Given the description of an element on the screen output the (x, y) to click on. 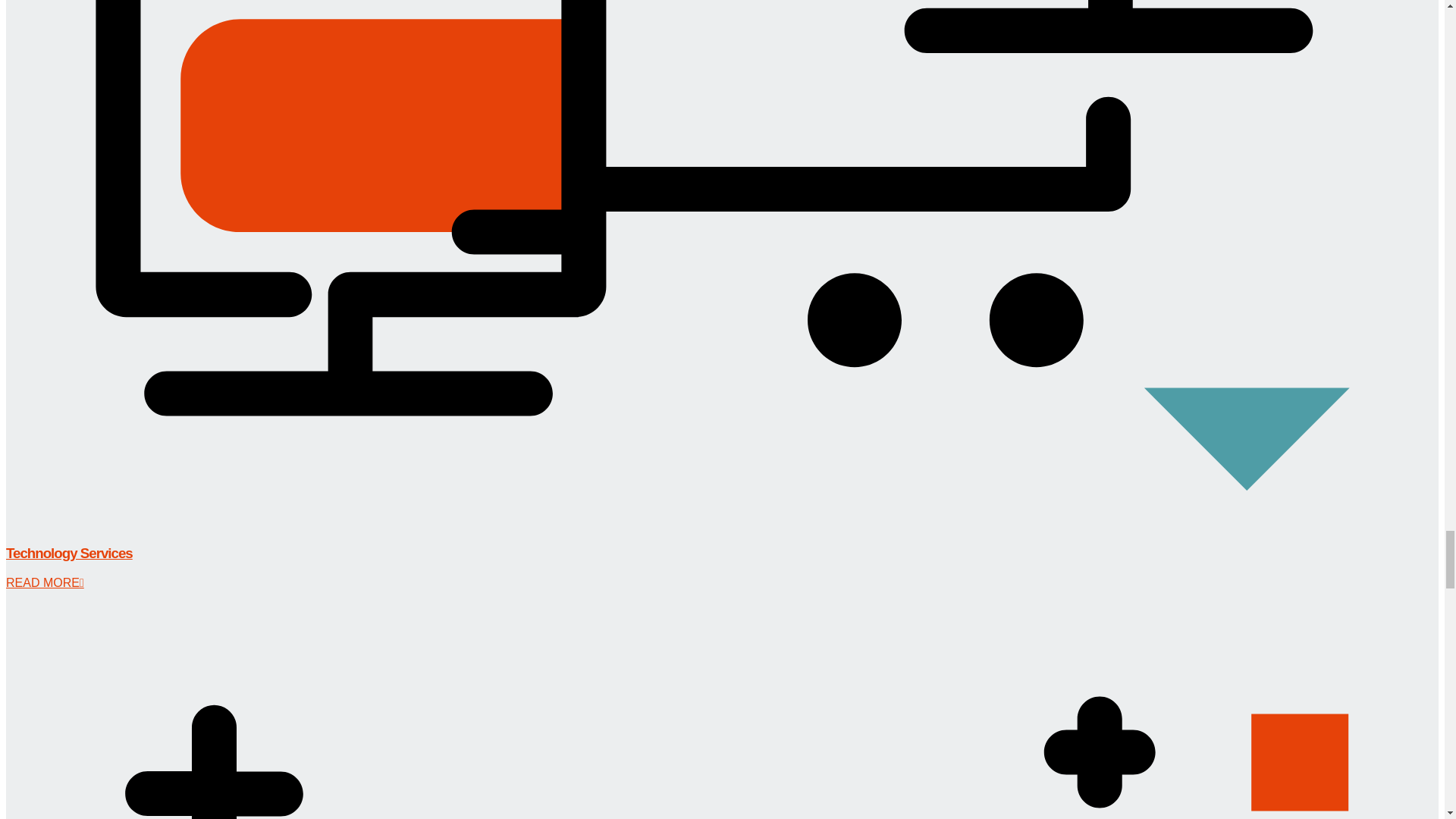
Technology Services (68, 553)
READ MORE (44, 582)
